Given the description of an element on the screen output the (x, y) to click on. 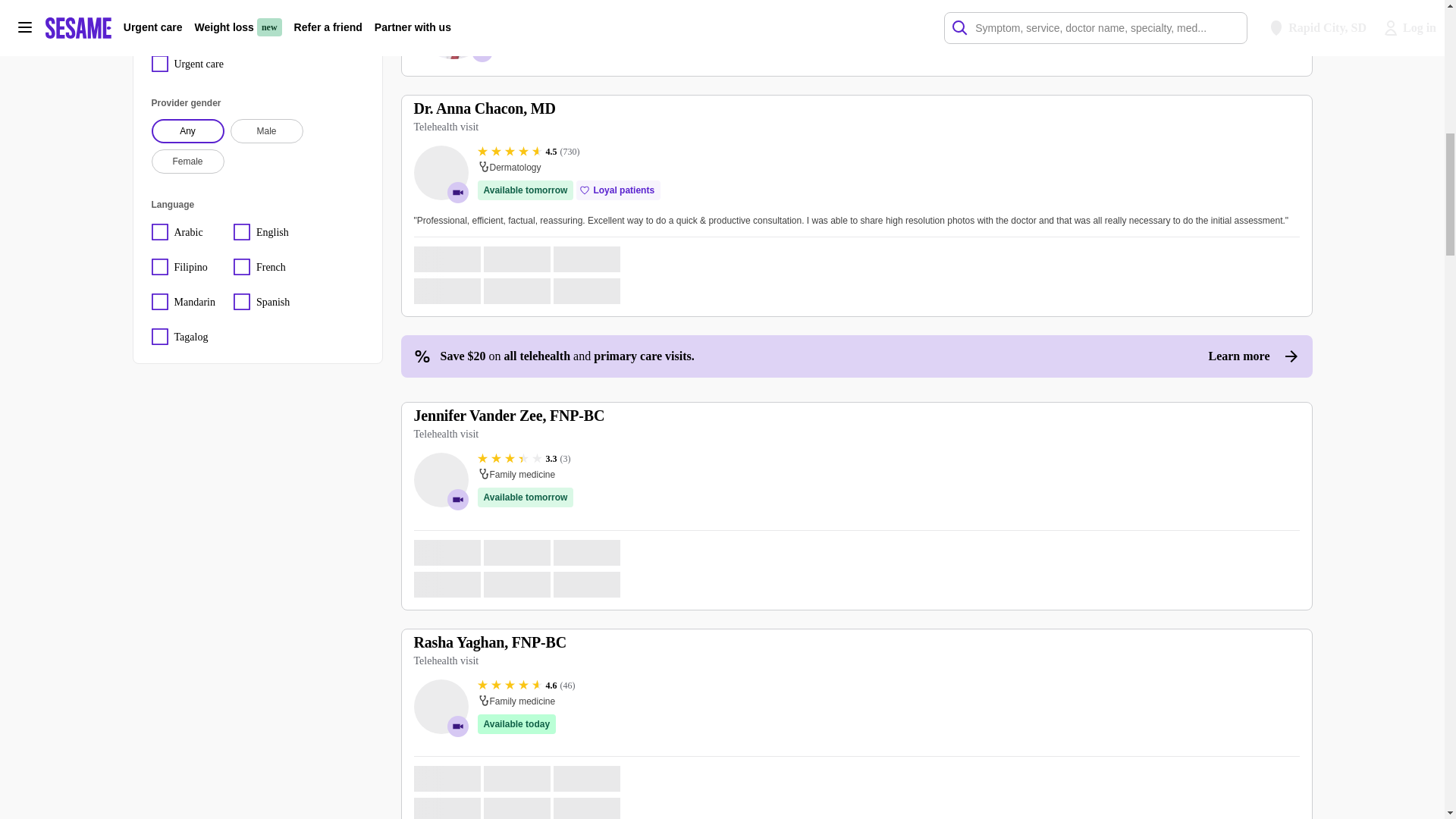
This provider has an overall rating of 4.6 out of 5 stars. (526, 685)
This provider has an overall rating of 4.5 out of 5 stars. (528, 151)
Option unchecked (199, 1)
This provider has an overall rating of 3.3 out of 5 stars. (523, 458)
Unchecked (159, 1)
